Given the description of an element on the screen output the (x, y) to click on. 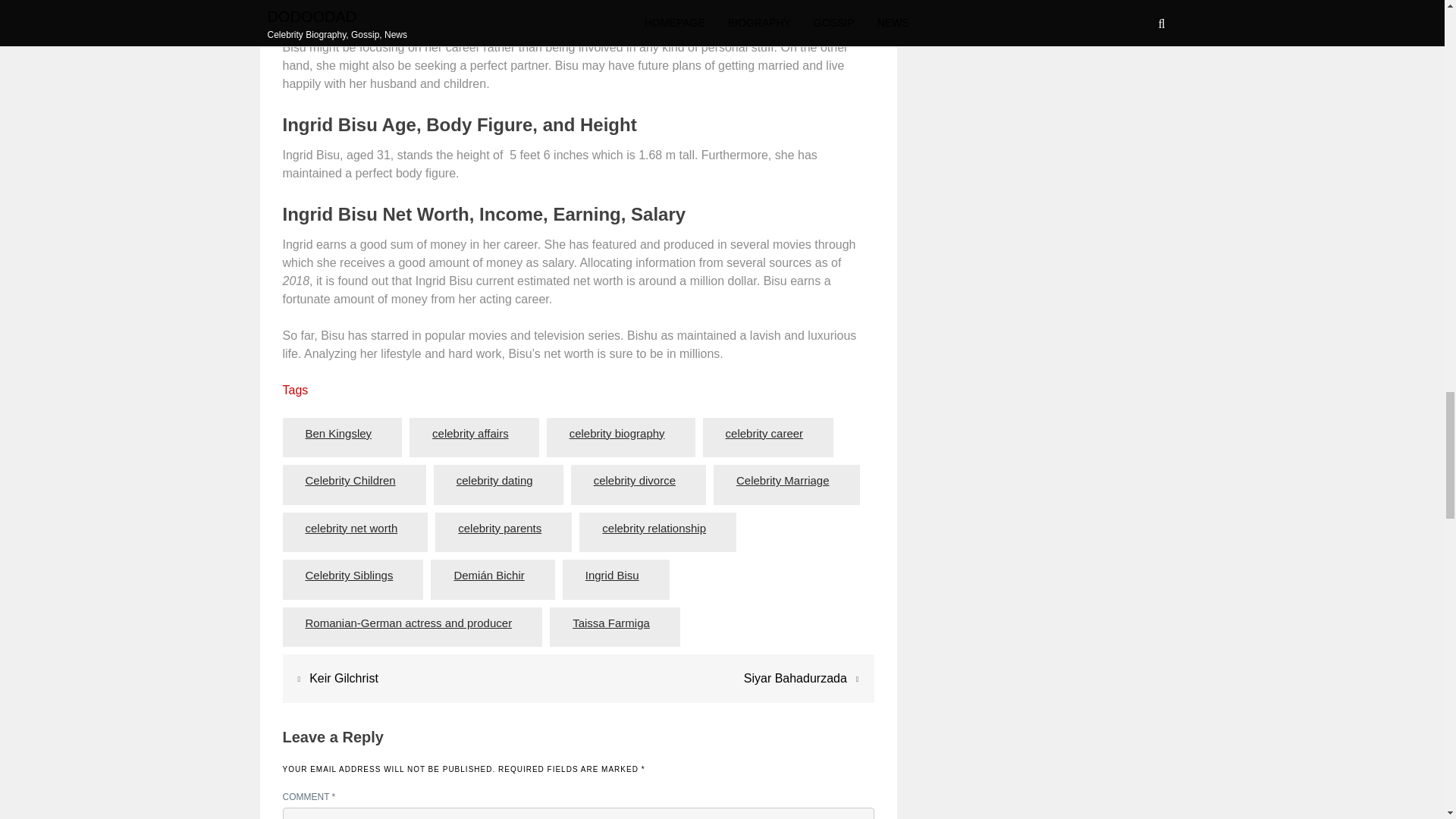
Celebrity Siblings (349, 575)
celebrity divorce (634, 480)
Celebrity Children (350, 480)
Taissa Farmiga (610, 623)
celebrity net worth (351, 528)
celebrity dating (494, 480)
Romanian-German actress and producer (409, 623)
celebrity parents (499, 528)
Keir Gilchrist (343, 677)
celebrity affairs (469, 433)
Ben Kingsley (339, 433)
Ingrid Bisu (611, 575)
Siyar Bahadurzada (795, 677)
celebrity biography (617, 433)
celebrity relationship (654, 528)
